Given the description of an element on the screen output the (x, y) to click on. 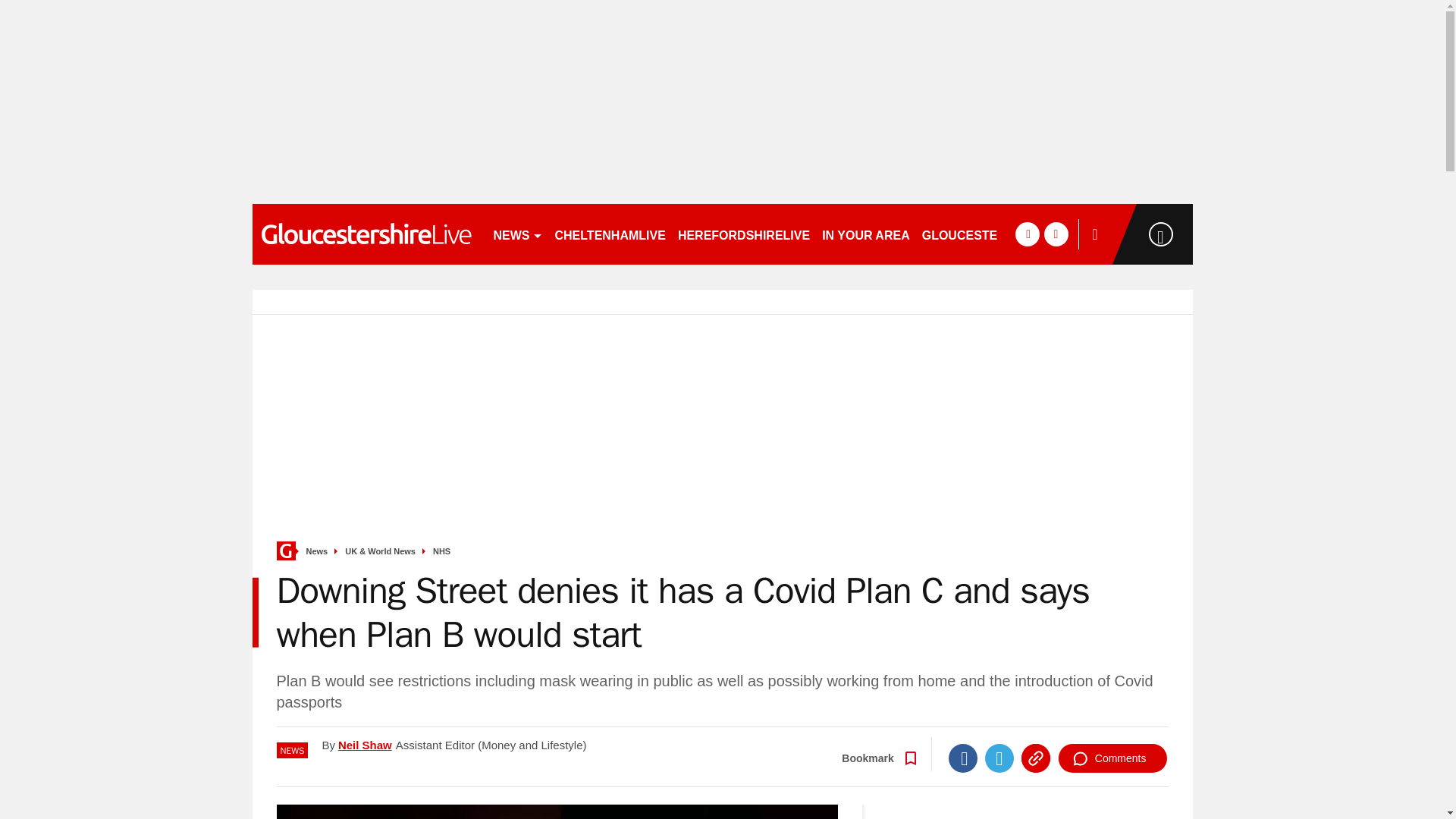
Comments (1112, 758)
Facebook (962, 758)
facebook (1026, 233)
CHELTENHAMLIVE (609, 233)
GLOUCESTER NEWS (983, 233)
gloucestershirelive (365, 233)
HEREFORDSHIRELIVE (743, 233)
Twitter (999, 758)
twitter (1055, 233)
IN YOUR AREA (865, 233)
